Given the description of an element on the screen output the (x, y) to click on. 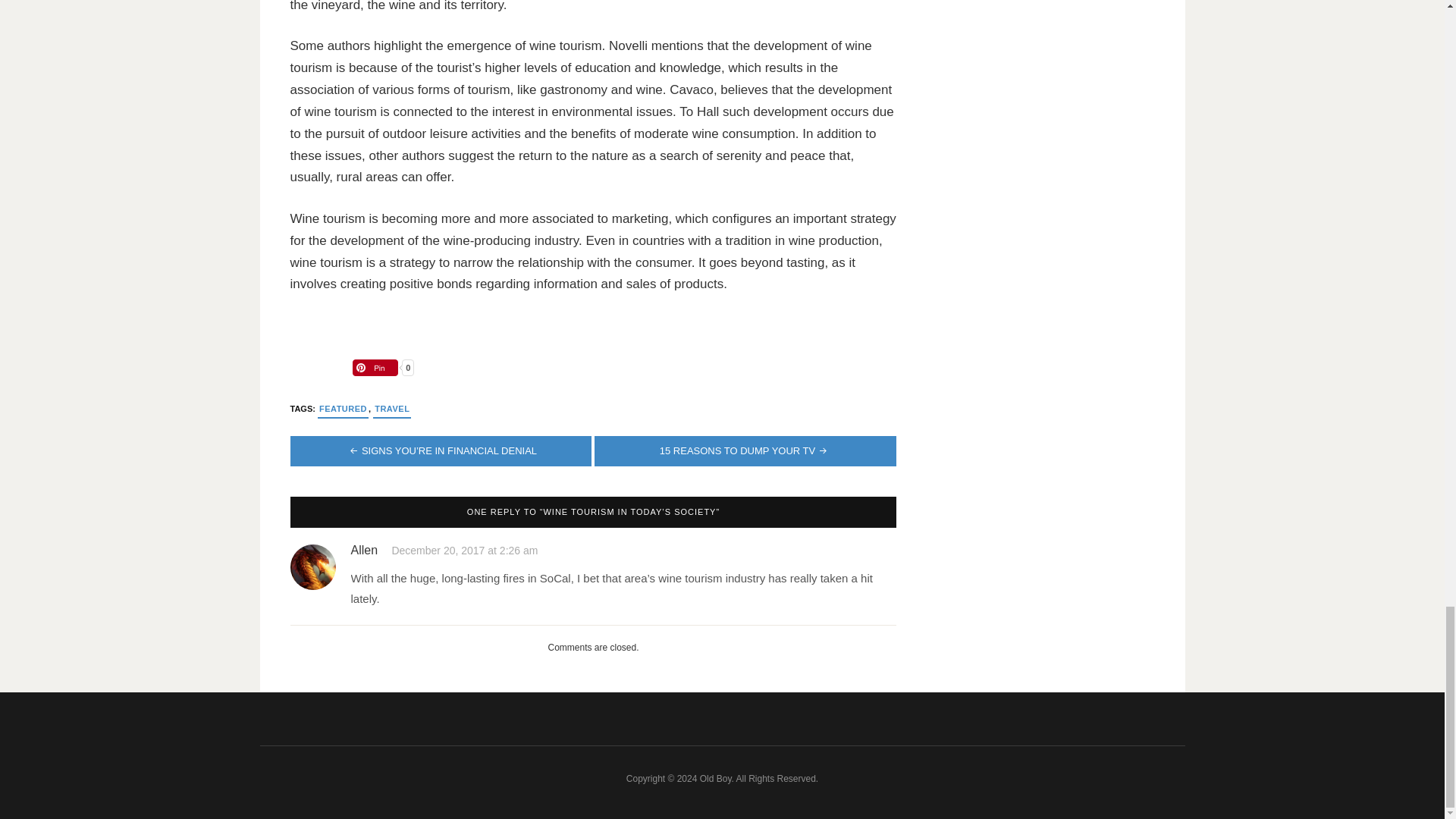
December 20, 2017 at 2:26 am (464, 550)
FEATURED (342, 409)
15 REASONS TO DUMP YOUR TV (745, 450)
TRAVEL (391, 409)
